Given the description of an element on the screen output the (x, y) to click on. 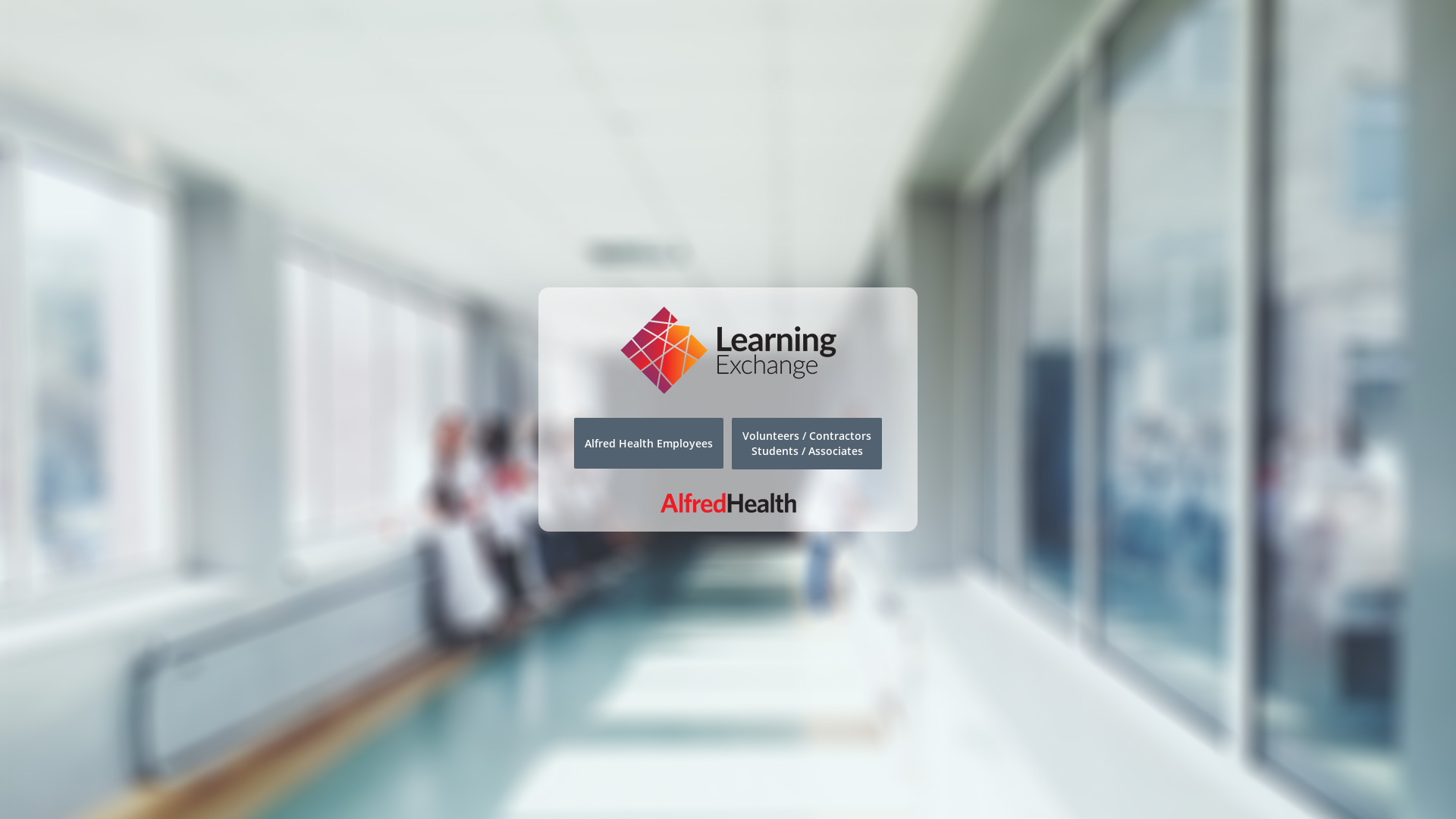
Alfred Health Employees Element type: text (648, 443)
Volunteers / Contractors
Students / Associates Element type: text (806, 442)
